Given the description of an element on the screen output the (x, y) to click on. 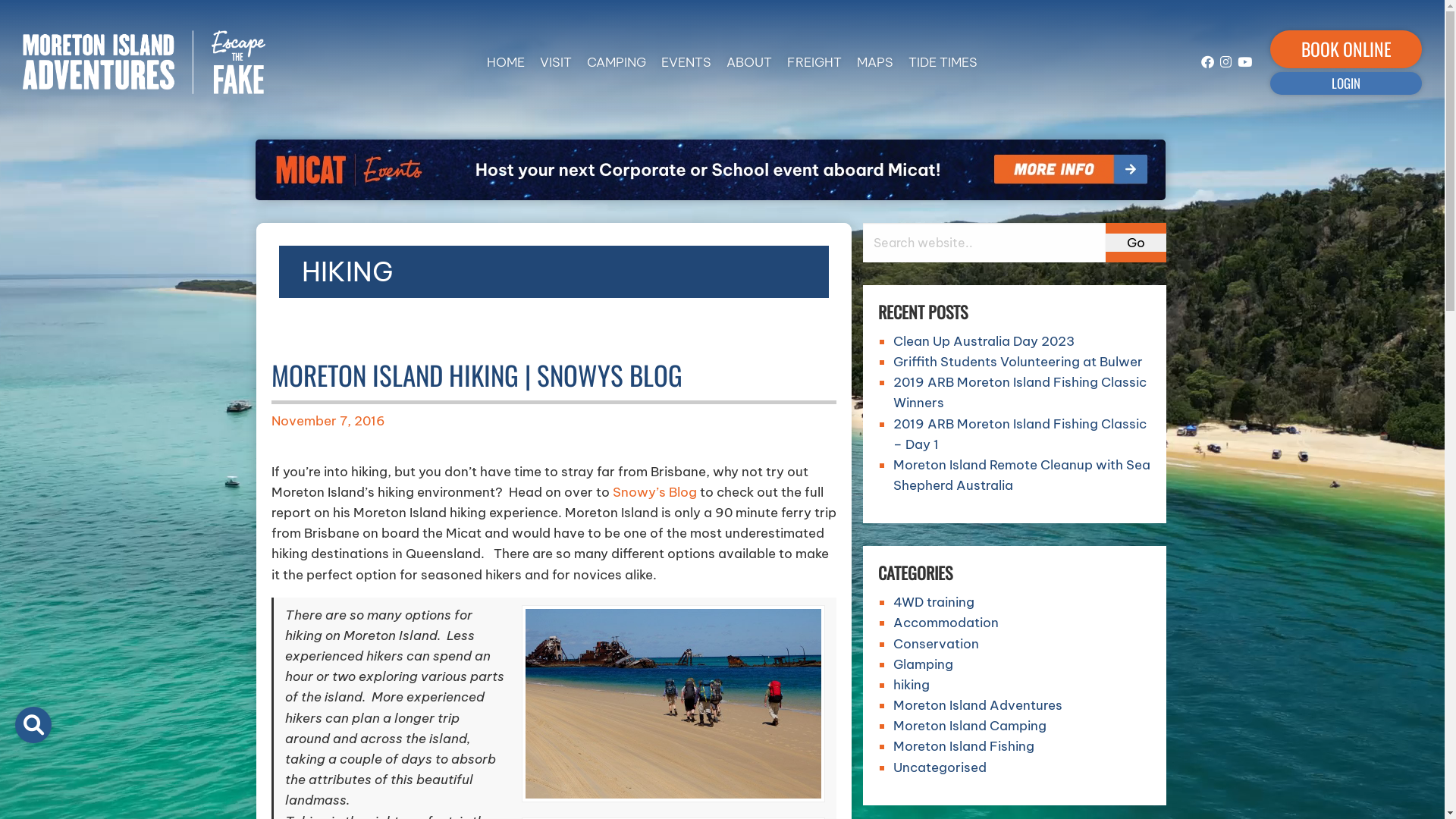
CAMPING Element type: text (616, 62)
2019 ARB Moreton Island Fishing Classic Winners Element type: text (1019, 392)
Glamping Element type: text (923, 663)
Conservation Element type: text (936, 643)
LOGIN Element type: text (1345, 83)
Uncategorised Element type: text (939, 767)
MORETON ISLAND HIKING | SNOWYS BLOG Element type: text (476, 374)
Moreton Island Remote Cleanup with Sea Shepherd Australia Element type: text (1021, 474)
MAPS Element type: text (874, 62)
4WD training Element type: text (933, 601)
Moreton Island Adventures Element type: hover (143, 61)
Moreton Island Adventures Element type: text (977, 704)
Moreton Island Fishing Element type: text (963, 745)
ABOUT Element type: text (748, 62)
Go Element type: text (1135, 242)
Clean Up Australia Day 2023 Element type: text (983, 340)
Accommodation Element type: text (945, 622)
Griffith Students Volunteering at Bulwer Element type: text (1017, 361)
EVENTS Element type: text (686, 62)
November 7, 2016 Element type: text (328, 420)
VISIT Element type: text (555, 62)
FREIGHT Element type: text (814, 62)
Moreton Island Camping Element type: text (969, 725)
HOME Element type: text (505, 62)
hiking Element type: text (911, 684)
BOOK ONLINE Element type: text (1345, 49)
TIDE TIMES Element type: text (942, 62)
